Given the description of an element on the screen output the (x, y) to click on. 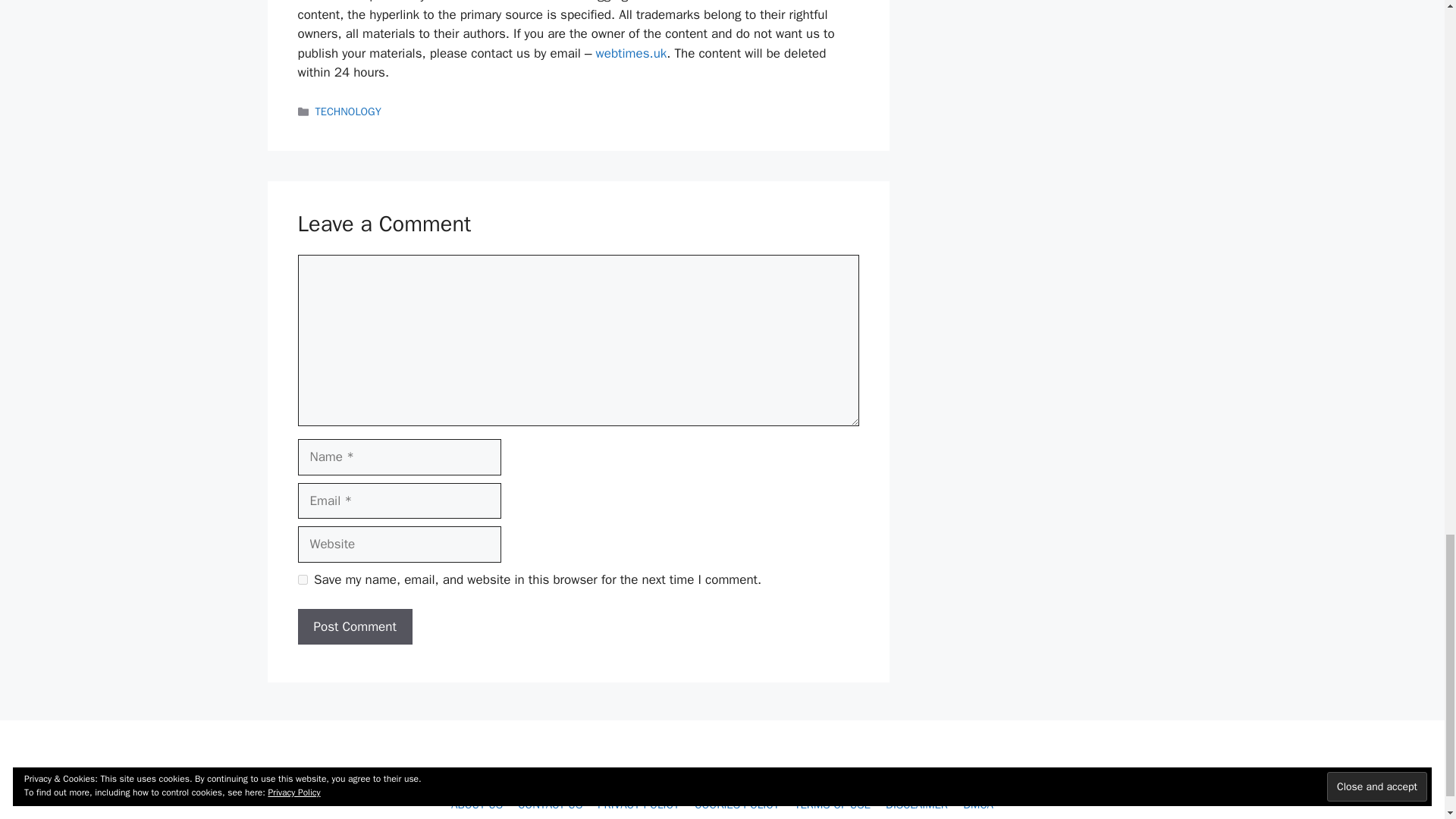
TECHNOLOGY (348, 110)
yes (302, 579)
Post Comment (354, 627)
webtimes.uk (630, 53)
